Given the description of an element on the screen output the (x, y) to click on. 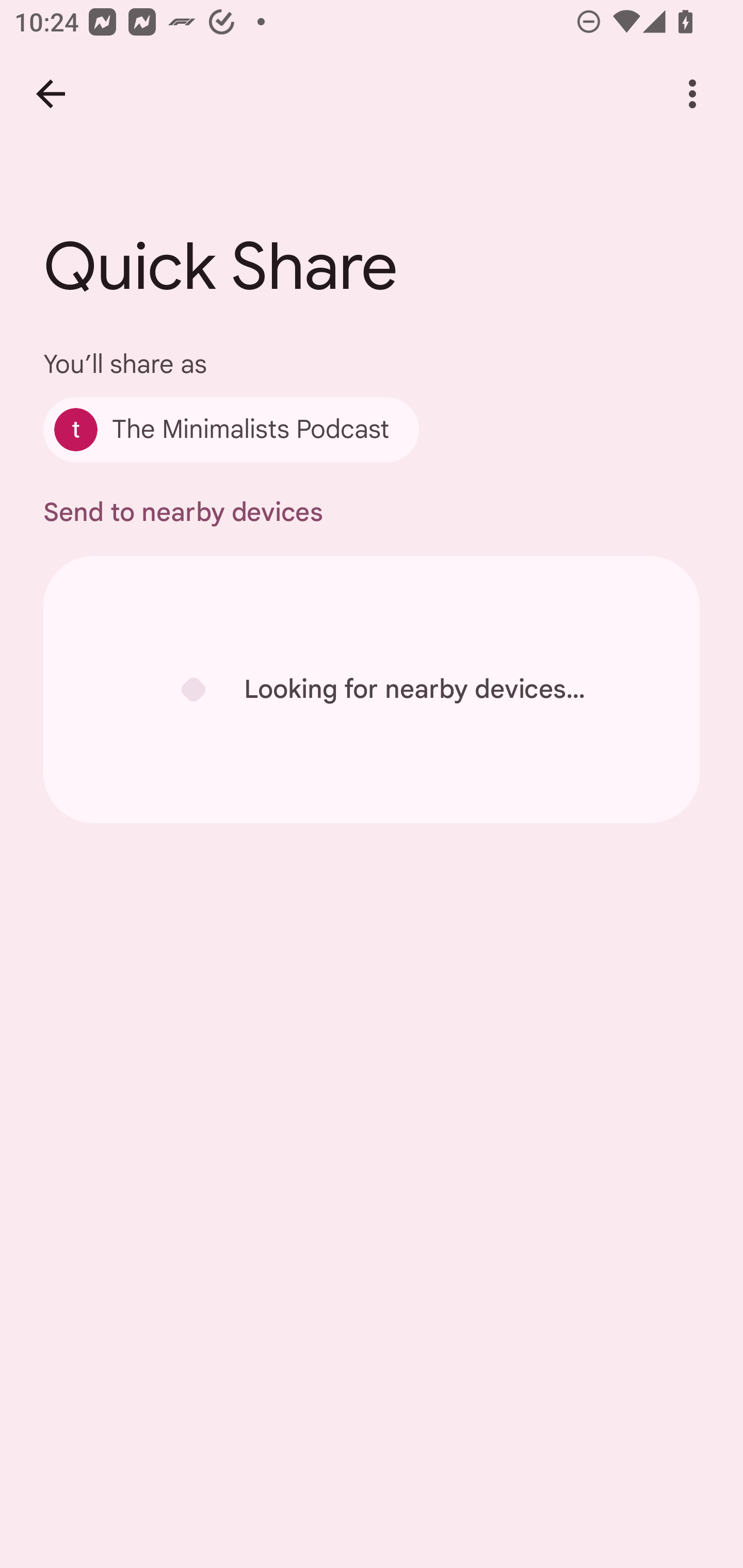
Back (50, 93)
More (692, 93)
The Minimalists Podcast (231, 429)
